Given the description of an element on the screen output the (x, y) to click on. 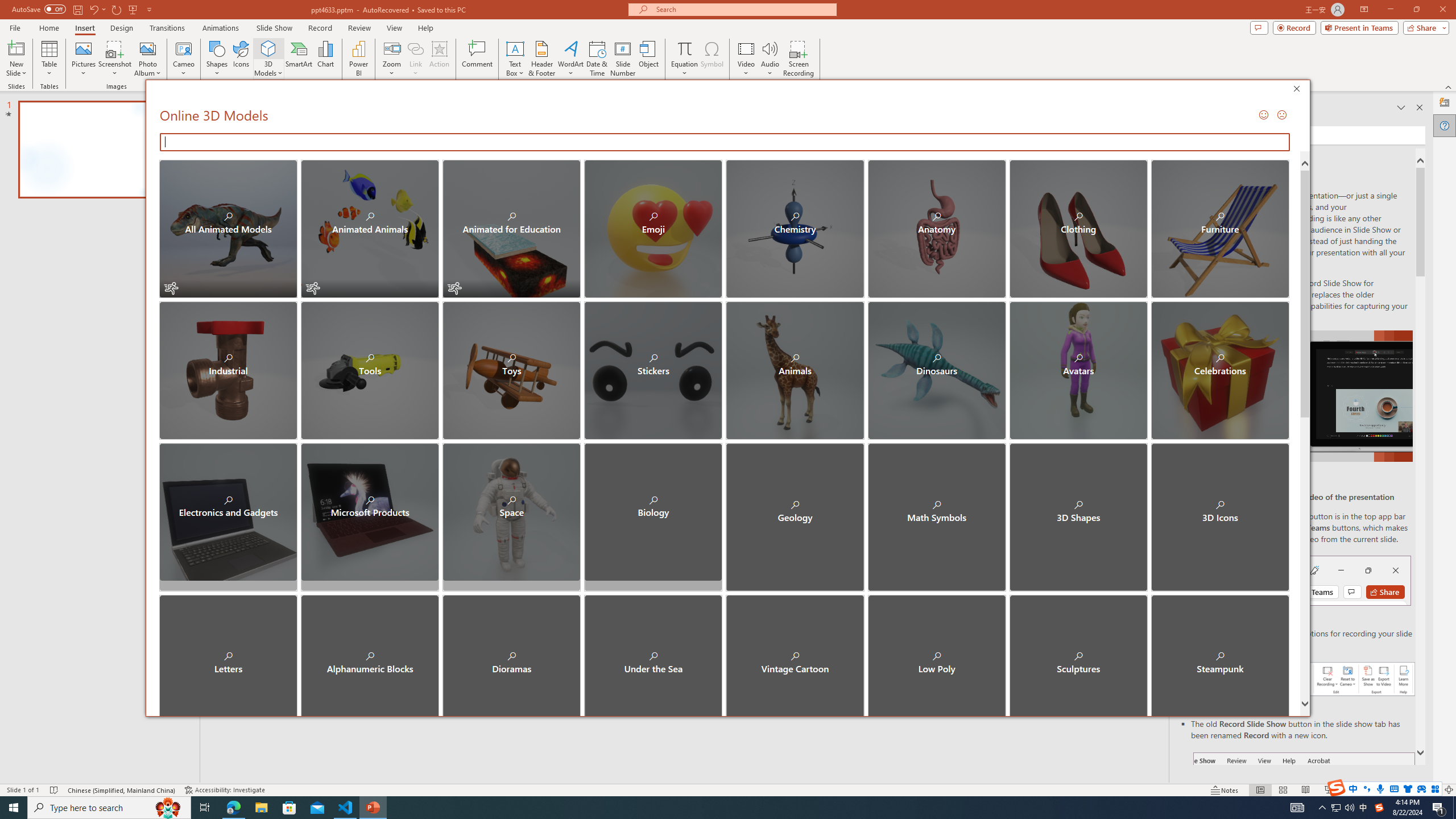
Tools (369, 370)
New Photo Album... (147, 48)
Animated for Education (510, 228)
WordArt (570, 58)
3D Shapes (1078, 511)
Steampunk (1219, 653)
Zoom 129% (1430, 790)
Industrial (228, 370)
Space (510, 511)
Letters (228, 653)
